Given the description of an element on the screen output the (x, y) to click on. 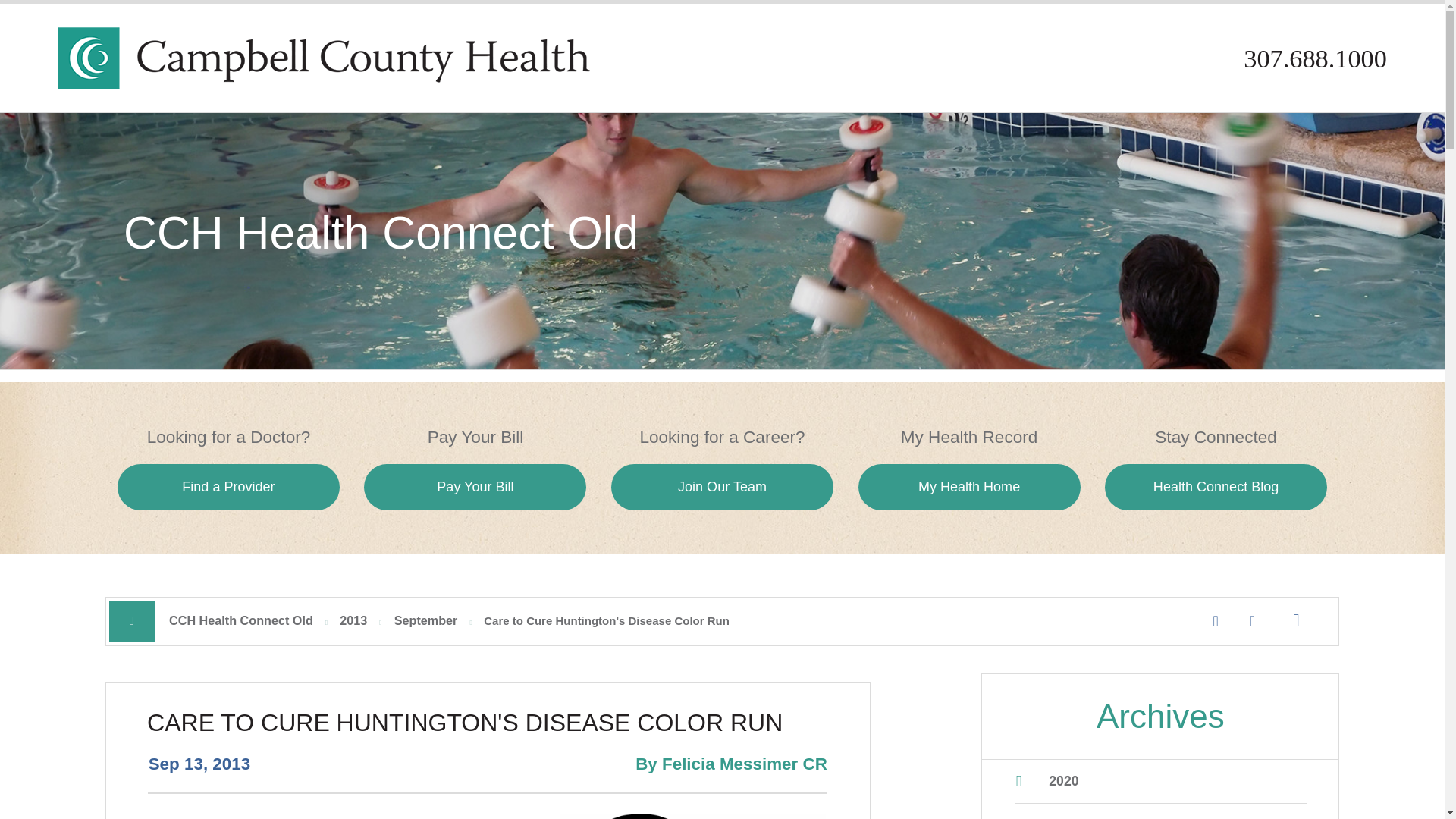
Printer-Friendly Page (1295, 619)
307.688.1000 (1315, 58)
Campbell County Health (323, 58)
